Given the description of an element on the screen output the (x, y) to click on. 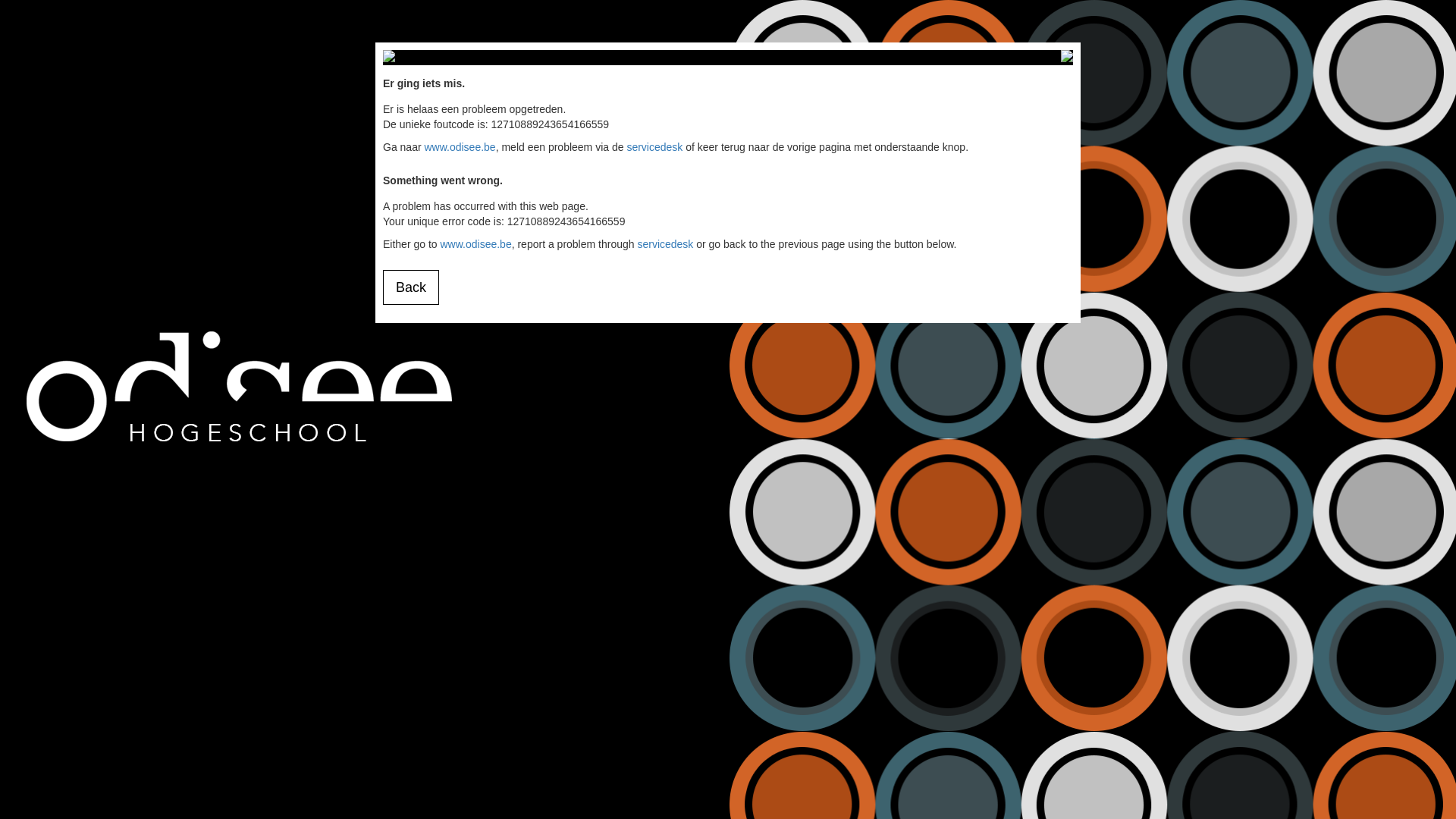
www.odisee.be Element type: text (459, 147)
www.odisee.be Element type: text (475, 244)
Back Element type: text (410, 286)
servicedesk Element type: text (654, 147)
servicedesk Element type: text (665, 244)
